Given the description of an element on the screen output the (x, y) to click on. 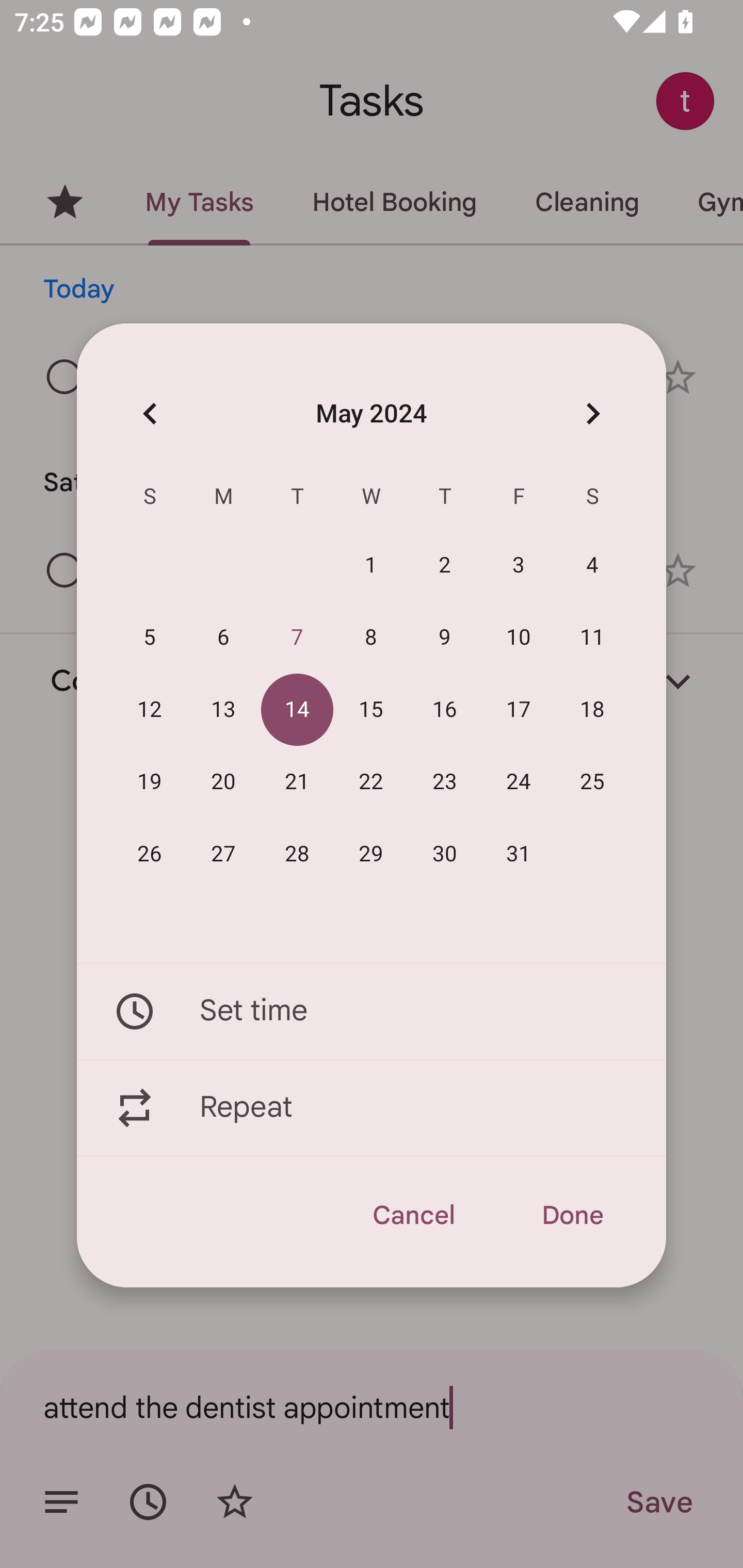
Previous month (149, 413)
Next month (592, 413)
1 01 May 2024 (370, 565)
2 02 May 2024 (444, 565)
3 03 May 2024 (518, 565)
4 04 May 2024 (592, 565)
5 05 May 2024 (149, 638)
6 06 May 2024 (223, 638)
7 07 May 2024 (297, 638)
8 08 May 2024 (370, 638)
9 09 May 2024 (444, 638)
10 10 May 2024 (518, 638)
11 11 May 2024 (592, 638)
12 12 May 2024 (149, 710)
13 13 May 2024 (223, 710)
14 14 May 2024 (297, 710)
15 15 May 2024 (370, 710)
16 16 May 2024 (444, 710)
17 17 May 2024 (518, 710)
18 18 May 2024 (592, 710)
19 19 May 2024 (149, 782)
20 20 May 2024 (223, 782)
21 21 May 2024 (297, 782)
22 22 May 2024 (370, 782)
23 23 May 2024 (444, 782)
24 24 May 2024 (518, 782)
25 25 May 2024 (592, 782)
26 26 May 2024 (149, 854)
27 27 May 2024 (223, 854)
28 28 May 2024 (297, 854)
29 29 May 2024 (370, 854)
30 30 May 2024 (444, 854)
31 31 May 2024 (518, 854)
Set time (371, 1011)
Repeat (371, 1108)
Cancel (412, 1215)
Done (571, 1215)
